Given the description of an element on the screen output the (x, y) to click on. 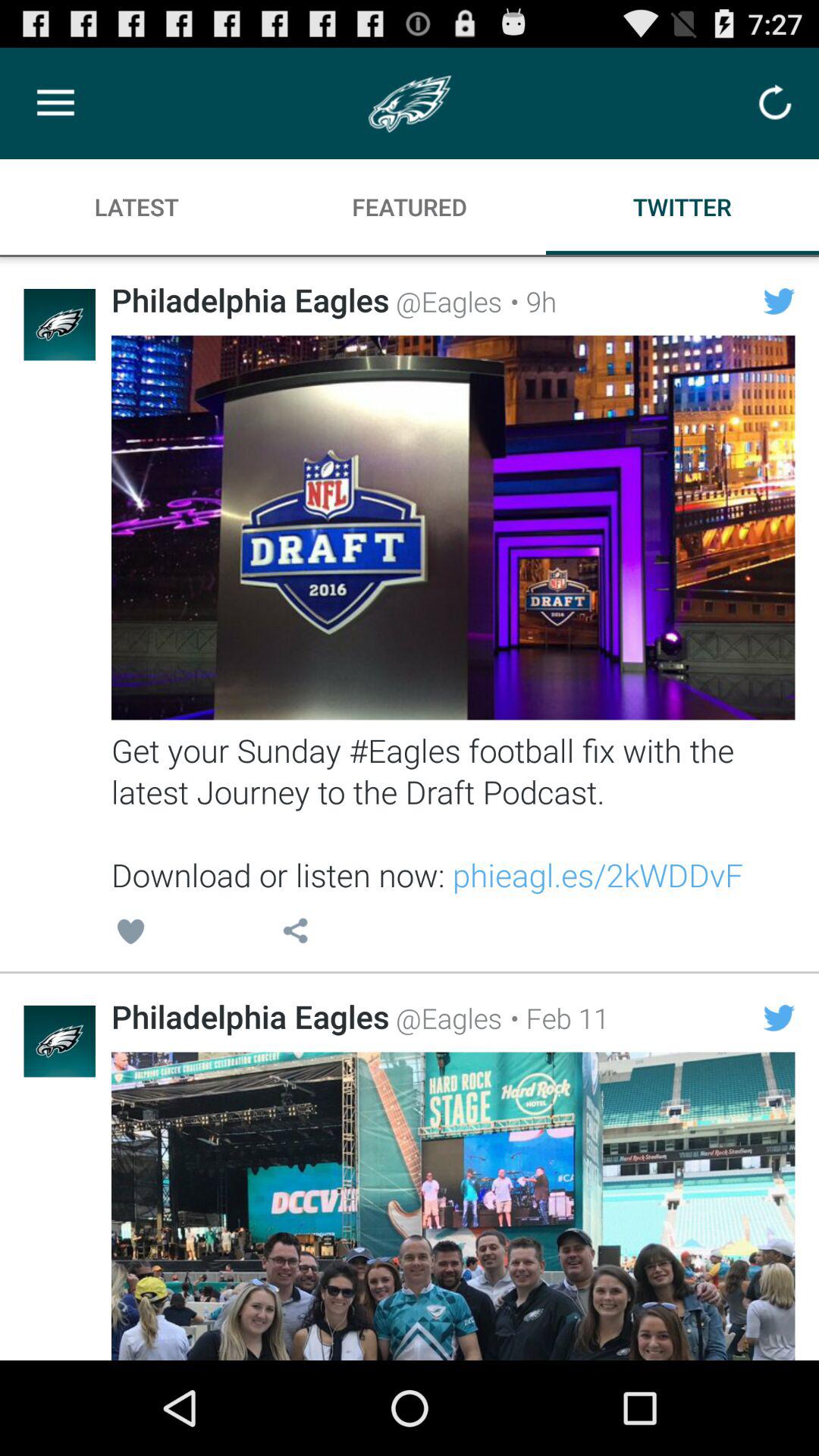
click the item next to the @eagles icon (555, 1017)
